Given the description of an element on the screen output the (x, y) to click on. 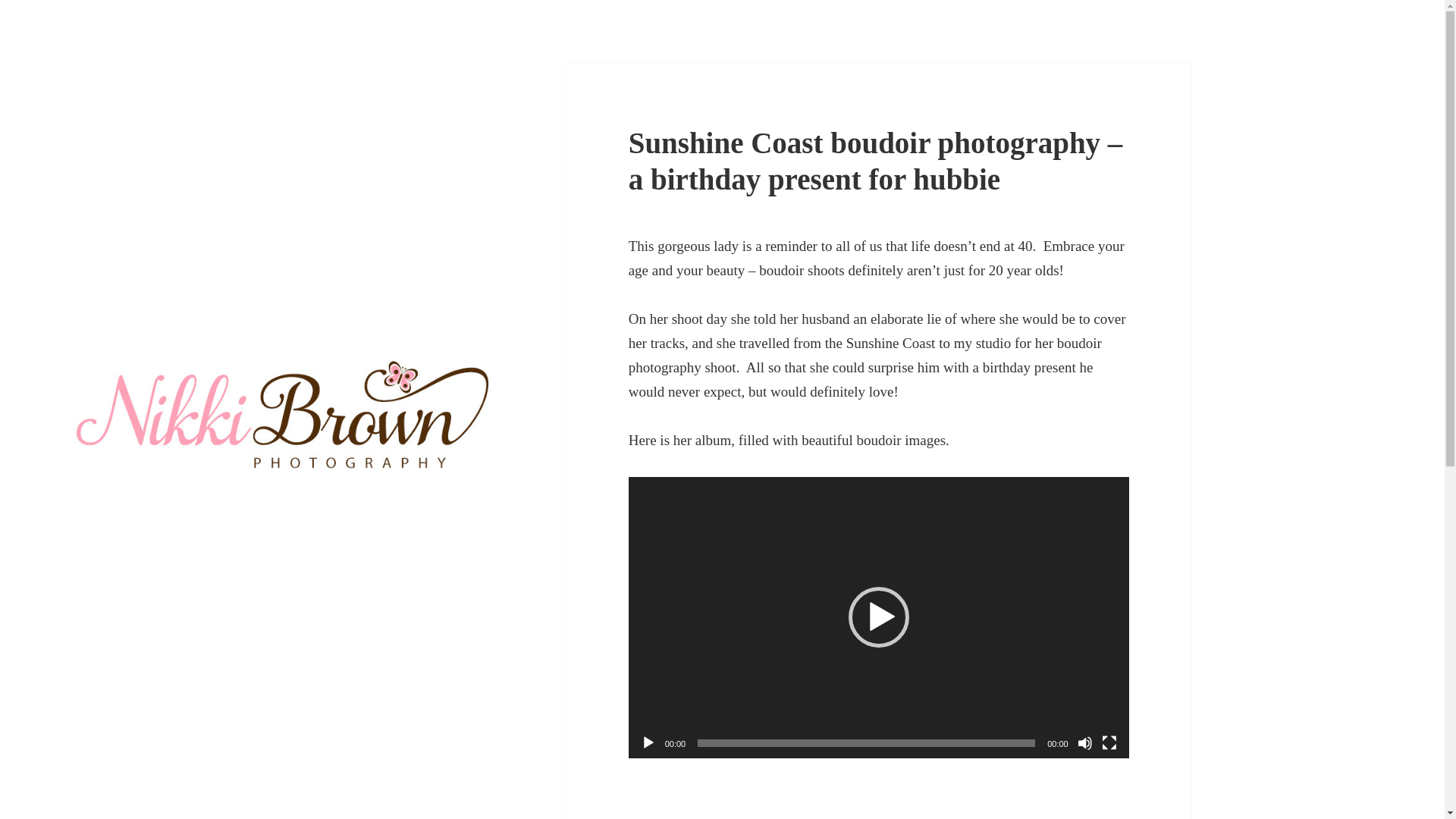
Mute (1085, 743)
Play (648, 743)
Fullscreen (1109, 743)
